Given the description of an element on the screen output the (x, y) to click on. 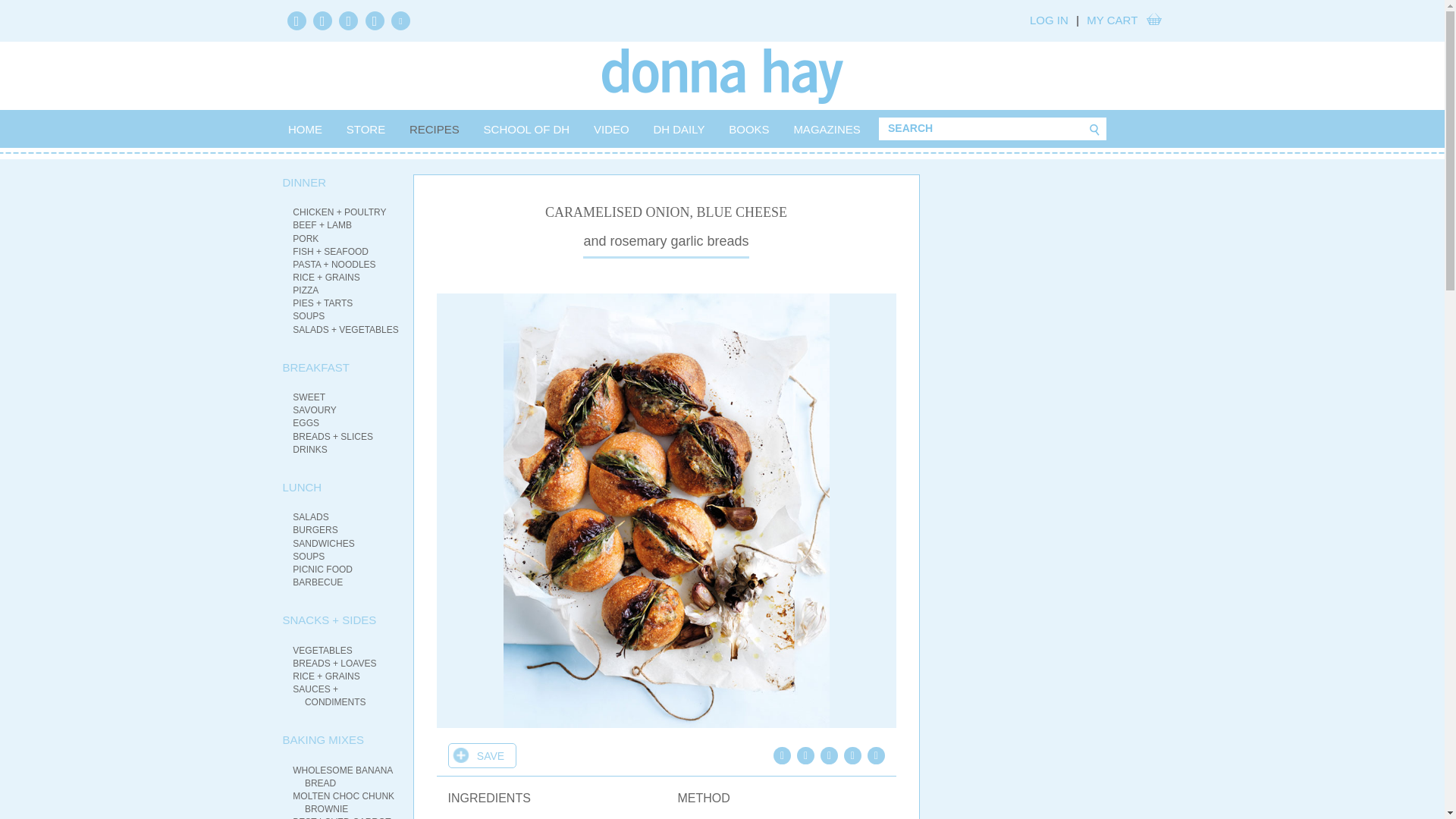
3rd party ad content (1047, 599)
RECIPES (433, 128)
LOG IN (1048, 19)
3rd party ad content (1047, 268)
SCHOOL OF DH (526, 128)
VIDEO (611, 128)
MY CART (1111, 19)
HOME (304, 128)
STORE (365, 128)
